Given the description of an element on the screen output the (x, y) to click on. 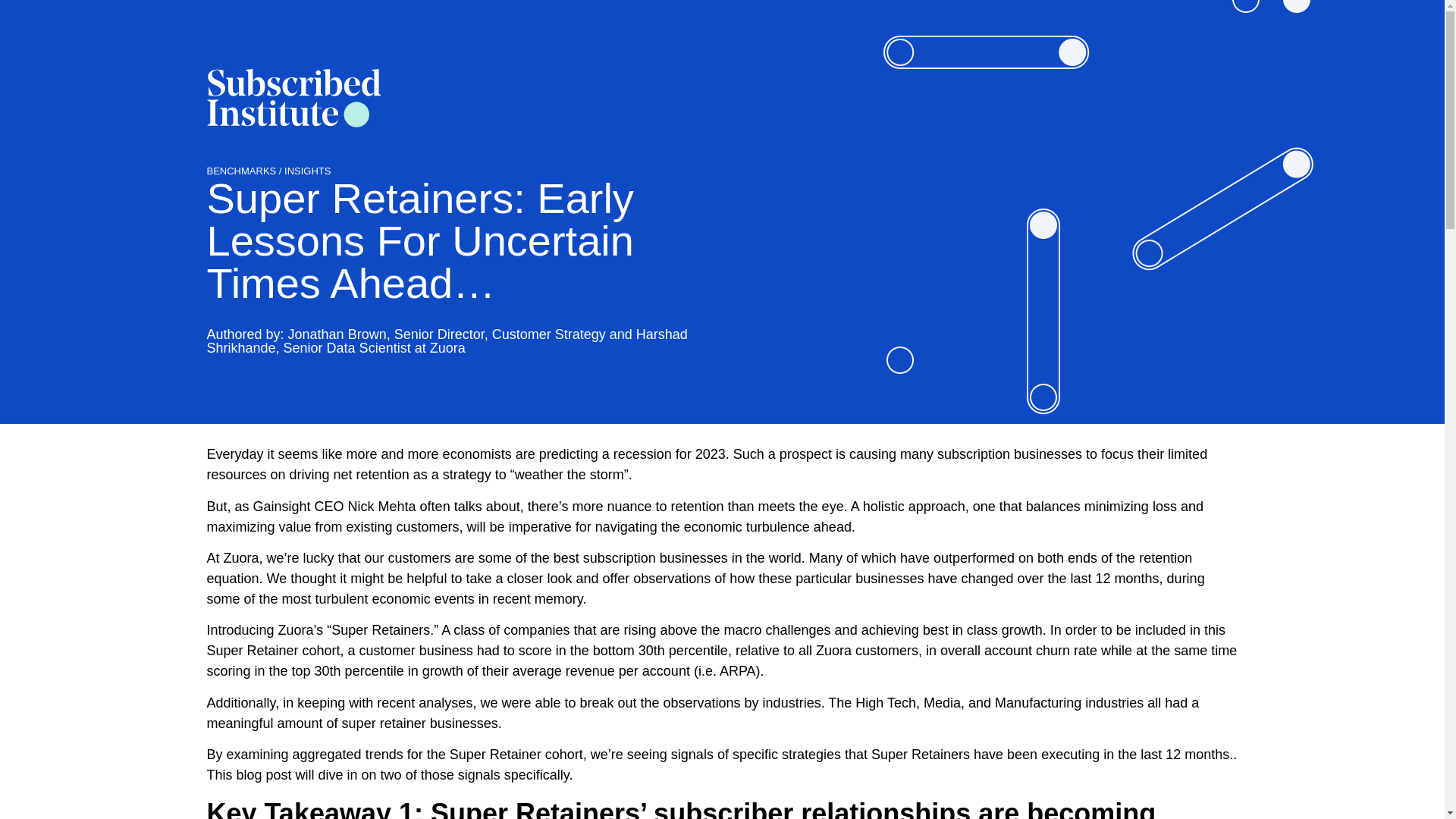
predicting a recession for 2023 (631, 453)
nuance to retention (665, 506)
recent analyses (424, 702)
